Given the description of an element on the screen output the (x, y) to click on. 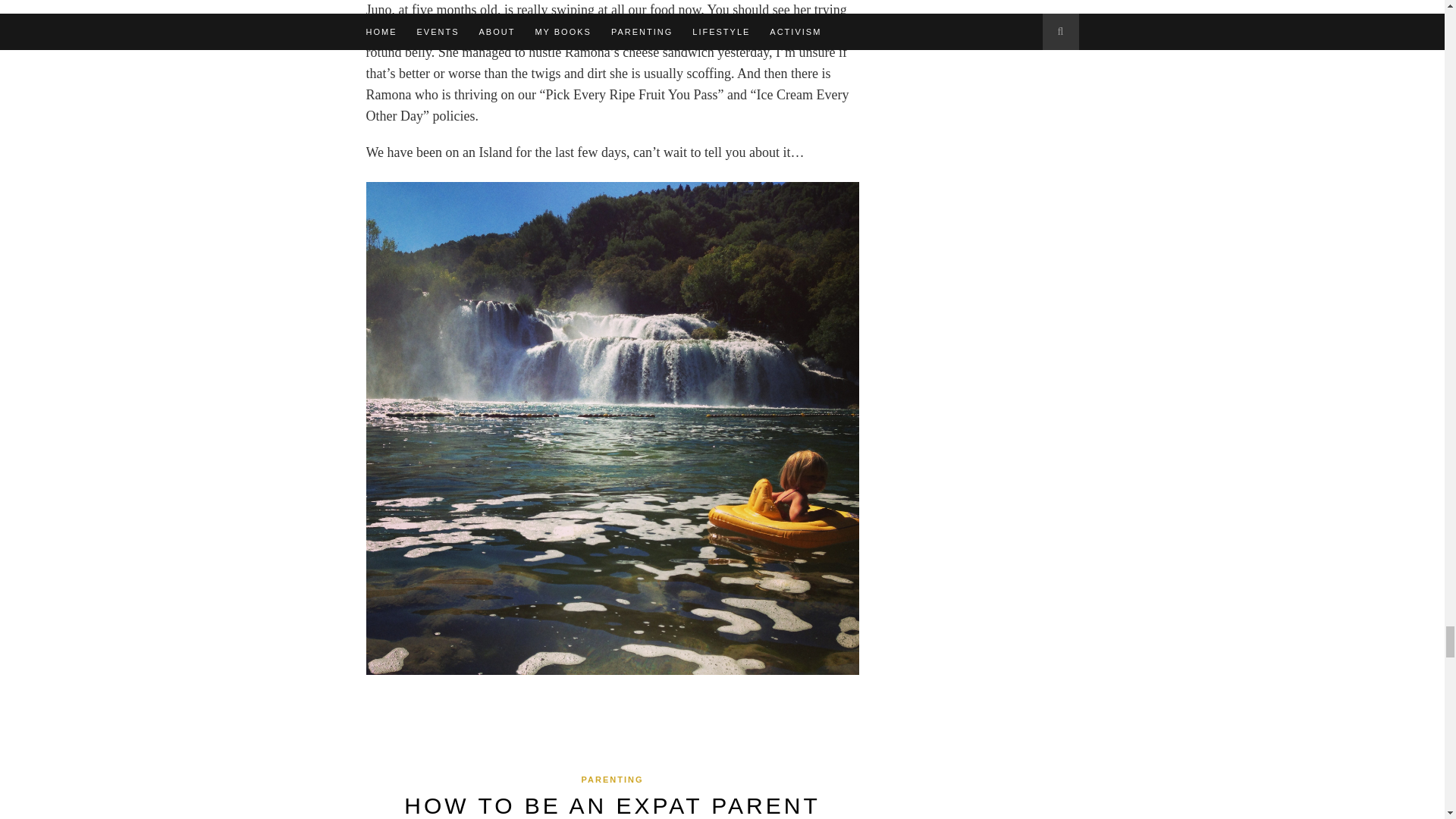
View all posts in Parenting (611, 778)
